Given the description of an element on the screen output the (x, y) to click on. 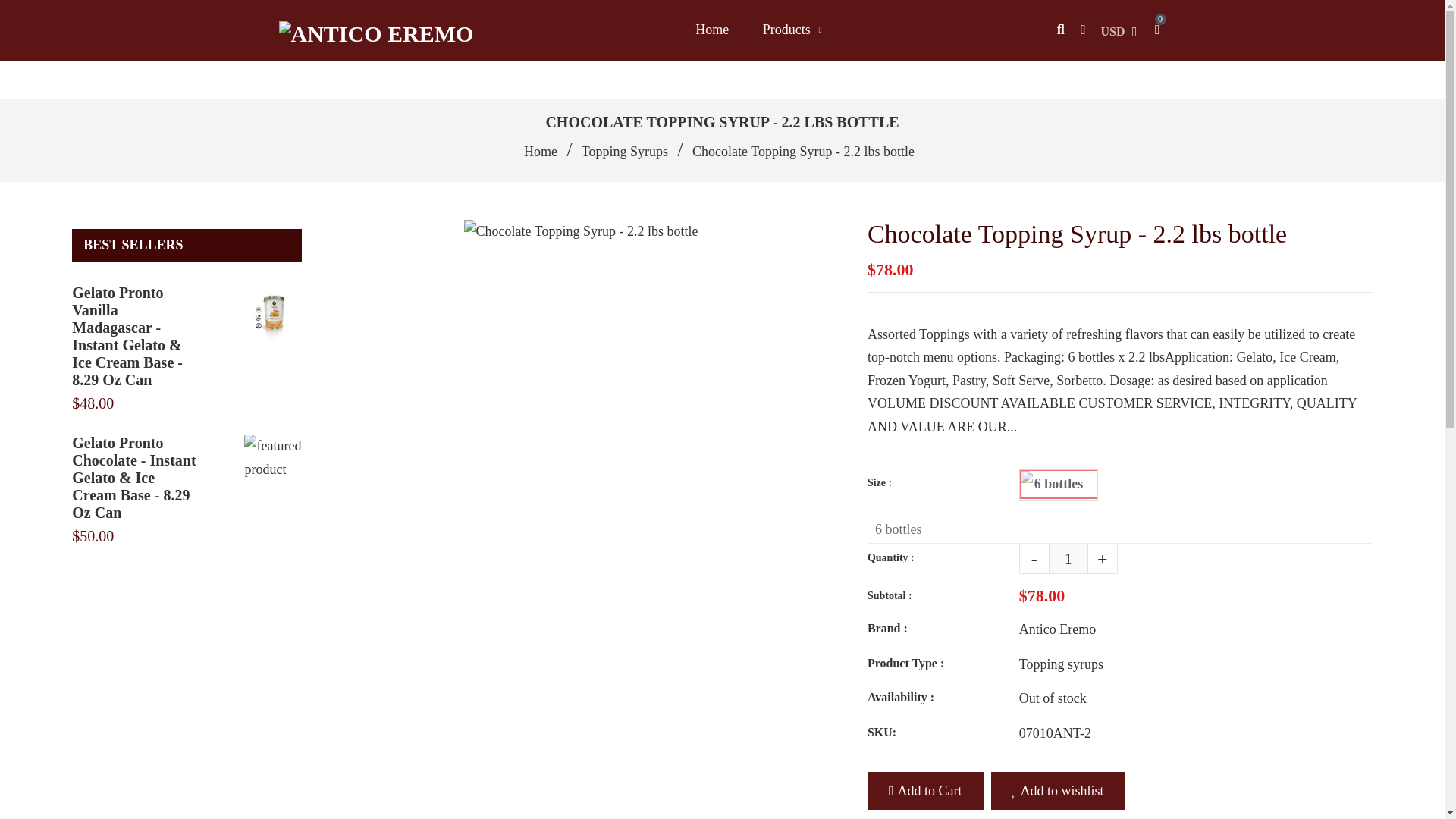
Products (786, 29)
Topping Syrups (625, 151)
Home (542, 151)
Add to wishlist (1058, 791)
0 (1153, 29)
Home (711, 29)
1 (1068, 558)
Back to the frontpage (542, 151)
